Given the description of an element on the screen output the (x, y) to click on. 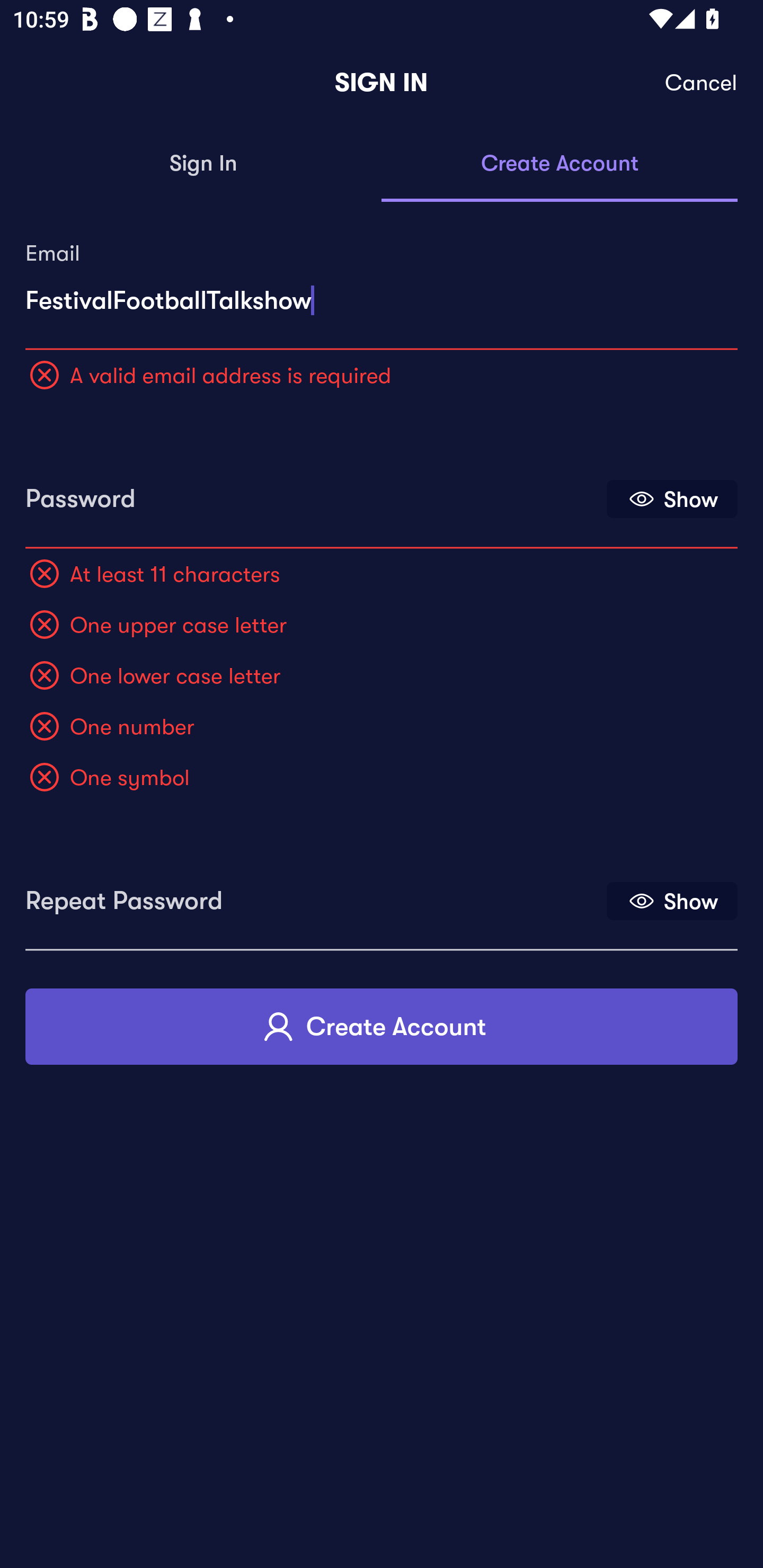
Cancel (701, 82)
Sign In (203, 164)
Create Account (559, 164)
Password, error message, At least 11 characters (314, 493)
Show Password Show (671, 498)
Repeat Password (314, 894)
Show Repeat Password Show (671, 900)
Create Account (381, 1025)
